Given the description of an element on the screen output the (x, y) to click on. 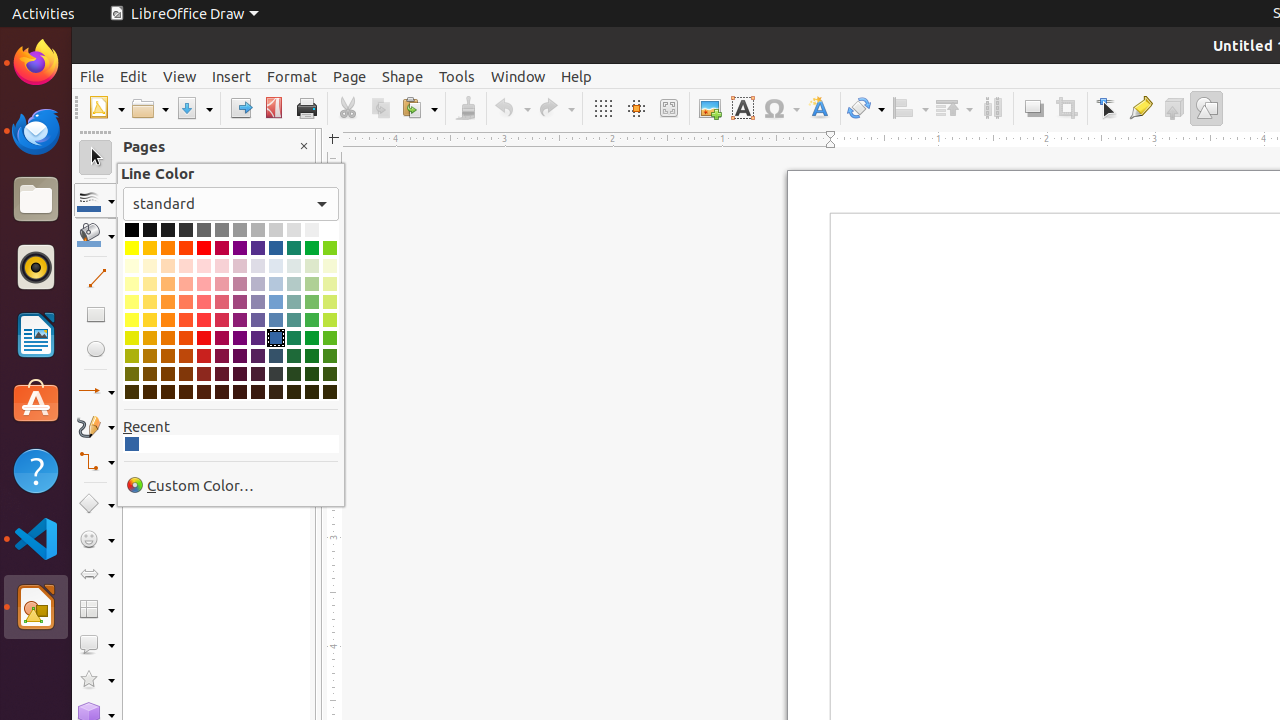
Redo Element type: push-button (556, 108)
Image Element type: push-button (709, 108)
Light Gold 3 Element type: list-item (150, 284)
Dark Magenta 3 Element type: list-item (222, 374)
Dark Brick 2 Element type: list-item (186, 356)
